Given the description of an element on the screen output the (x, y) to click on. 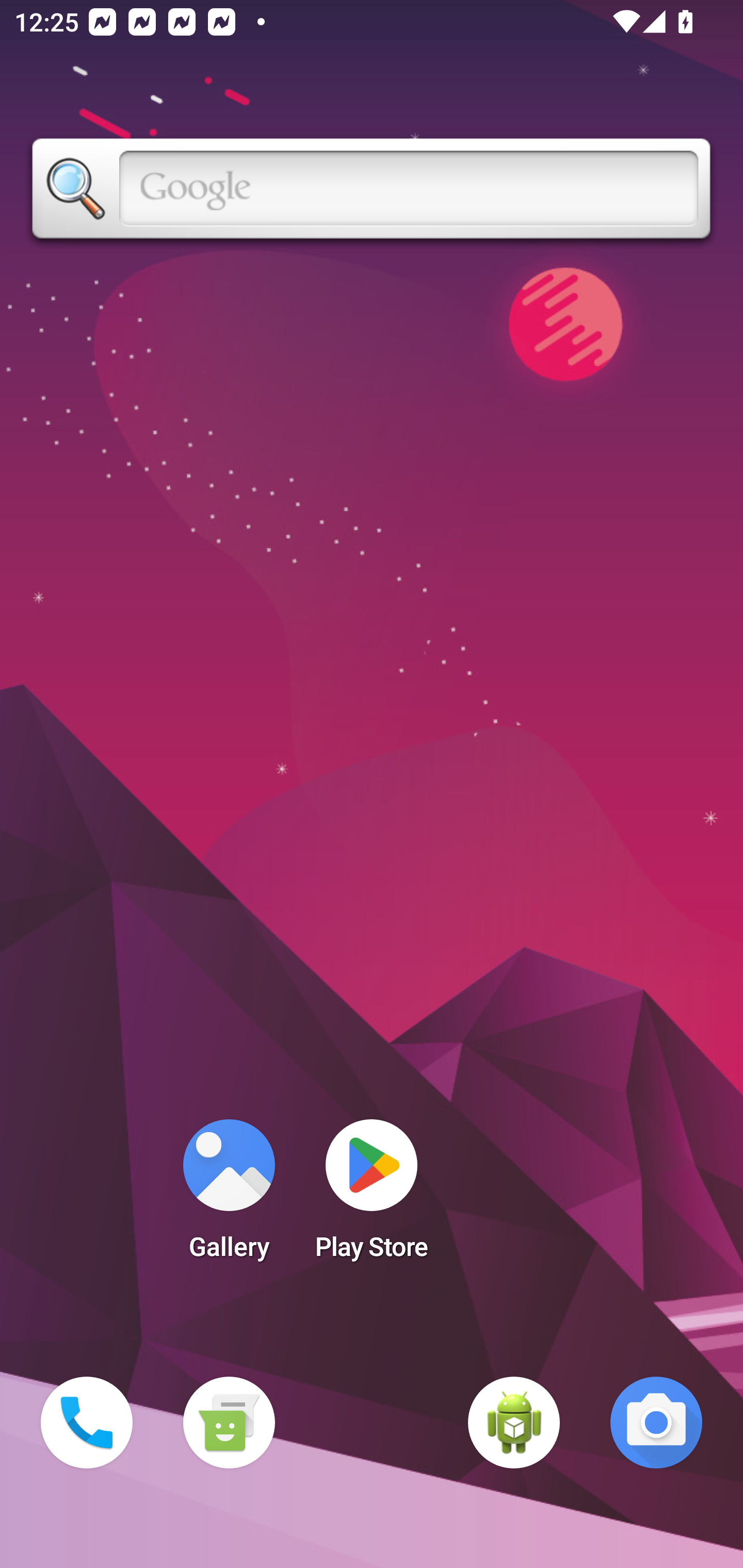
Gallery (228, 1195)
Play Store (371, 1195)
Phone (86, 1422)
Messaging (228, 1422)
WebView Browser Tester (513, 1422)
Camera (656, 1422)
